Given the description of an element on the screen output the (x, y) to click on. 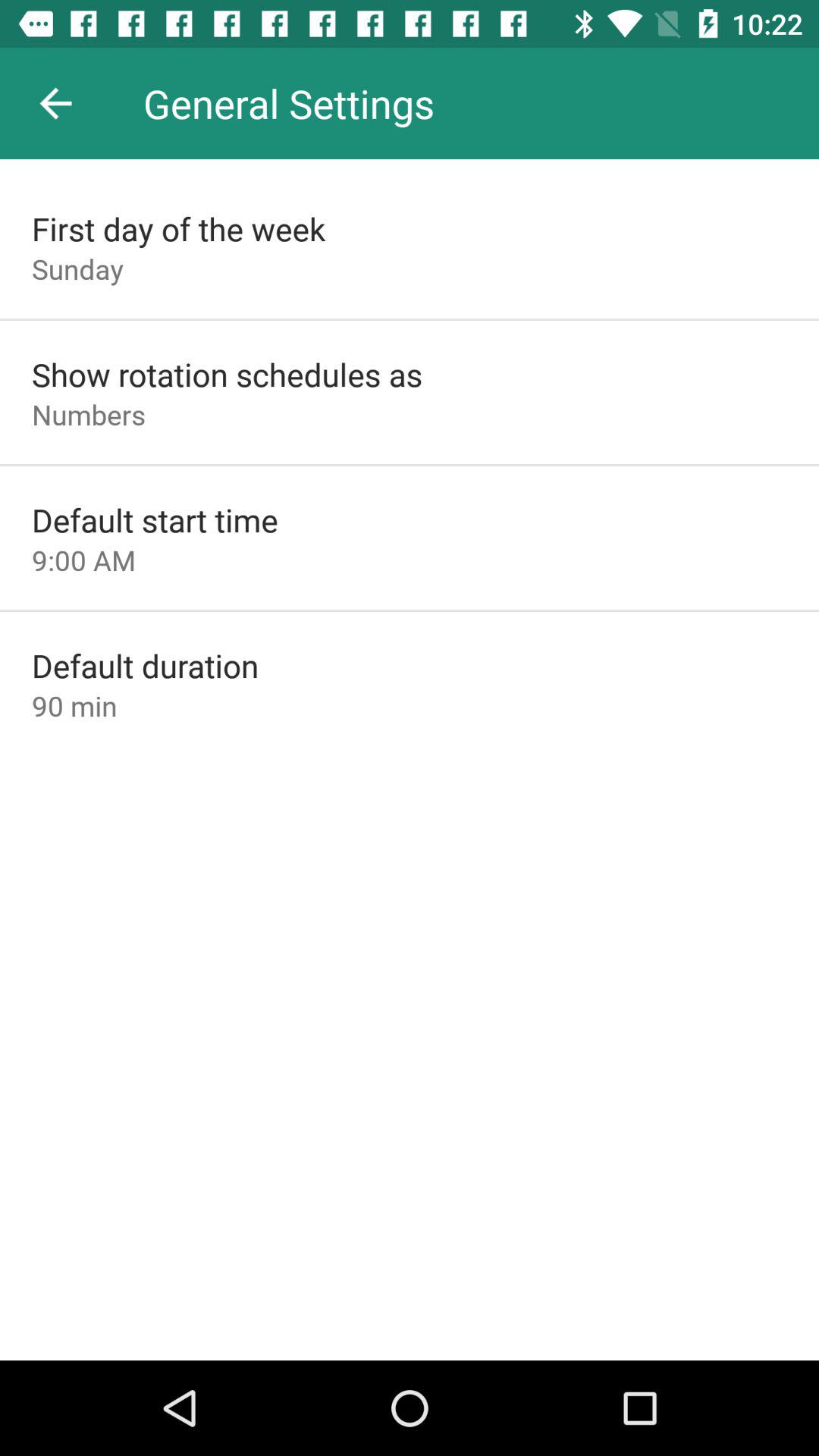
launch icon at the top left corner (55, 103)
